Given the description of an element on the screen output the (x, y) to click on. 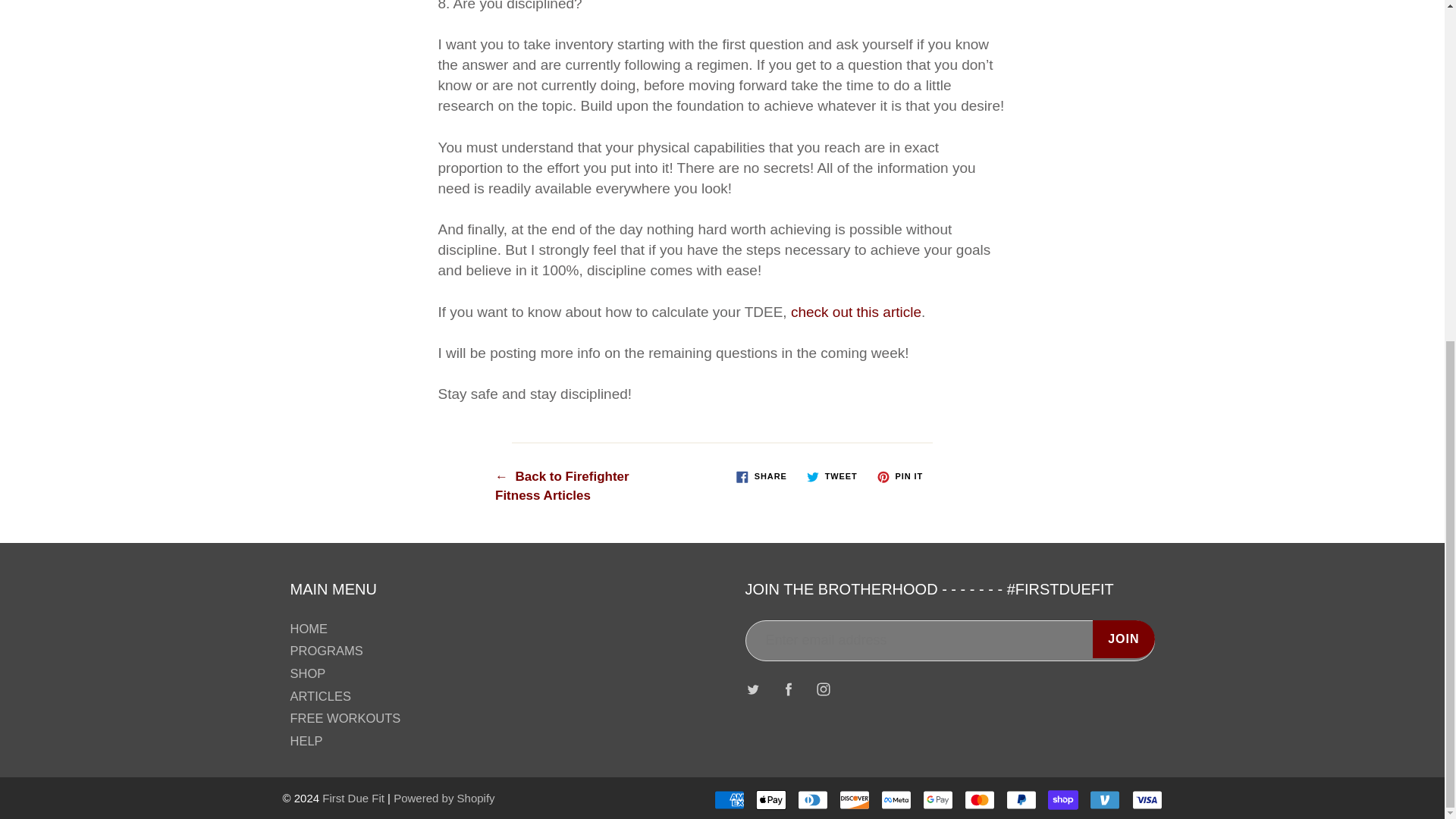
Pin on Pinterest (899, 476)
PayPal (1021, 799)
American Express (729, 799)
Apple Pay (770, 799)
Twitter (753, 689)
Mastercard (978, 799)
Discover (854, 799)
Tweet on Twitter (831, 476)
Share on Facebook (761, 476)
Shop Pay (1063, 799)
Meta Pay (895, 799)
Diners Club (812, 799)
Facebook (788, 689)
Instagram (823, 689)
Google Pay (938, 799)
